Given the description of an element on the screen output the (x, y) to click on. 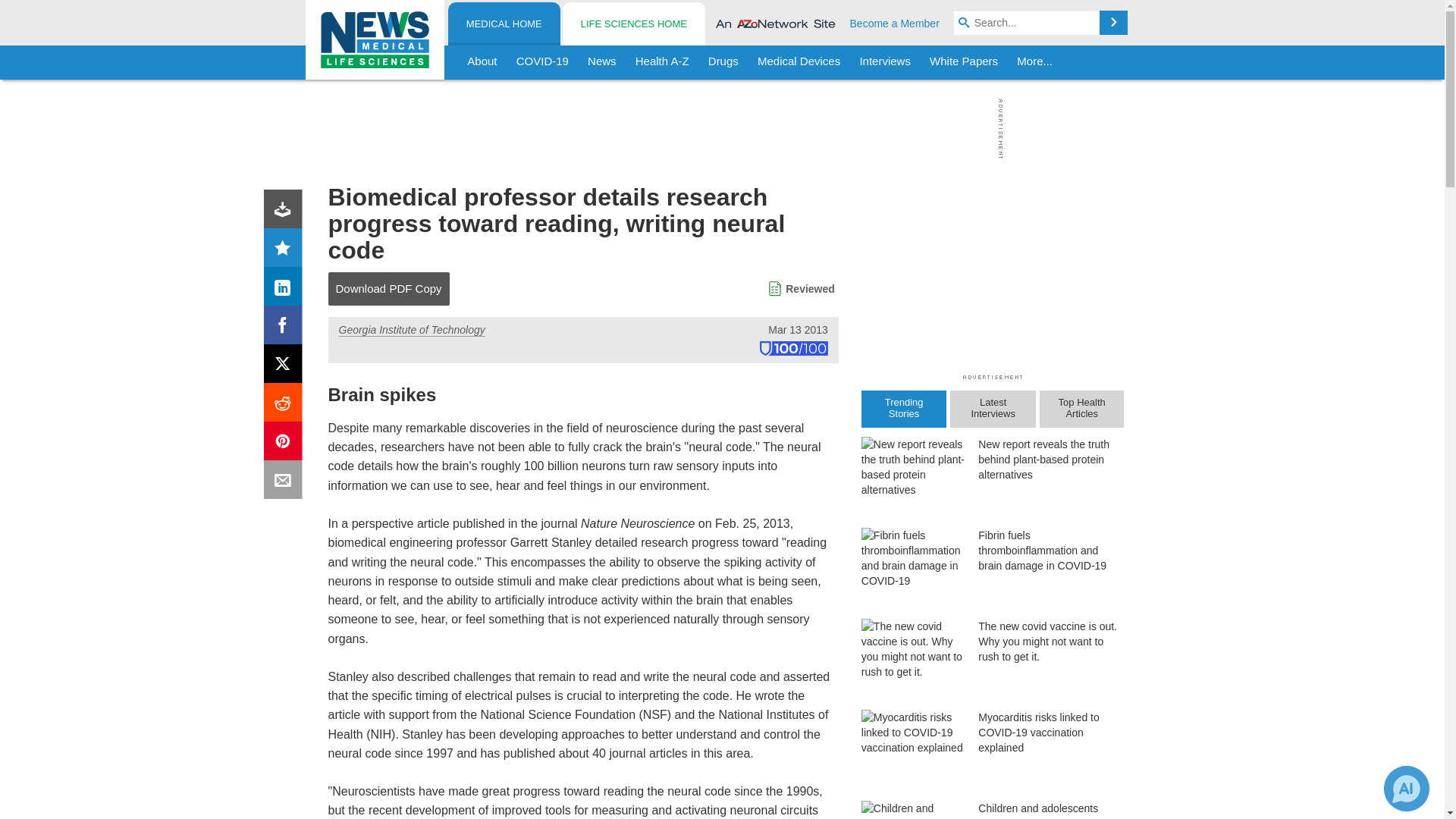
News (601, 62)
Become a Member (894, 22)
COVID-19 (542, 62)
More... (1035, 62)
Interviews (884, 62)
MEDICAL HOME (504, 23)
Health A-Z (662, 62)
Rating (285, 250)
White Papers (963, 62)
Email (285, 483)
